Given the description of an element on the screen output the (x, y) to click on. 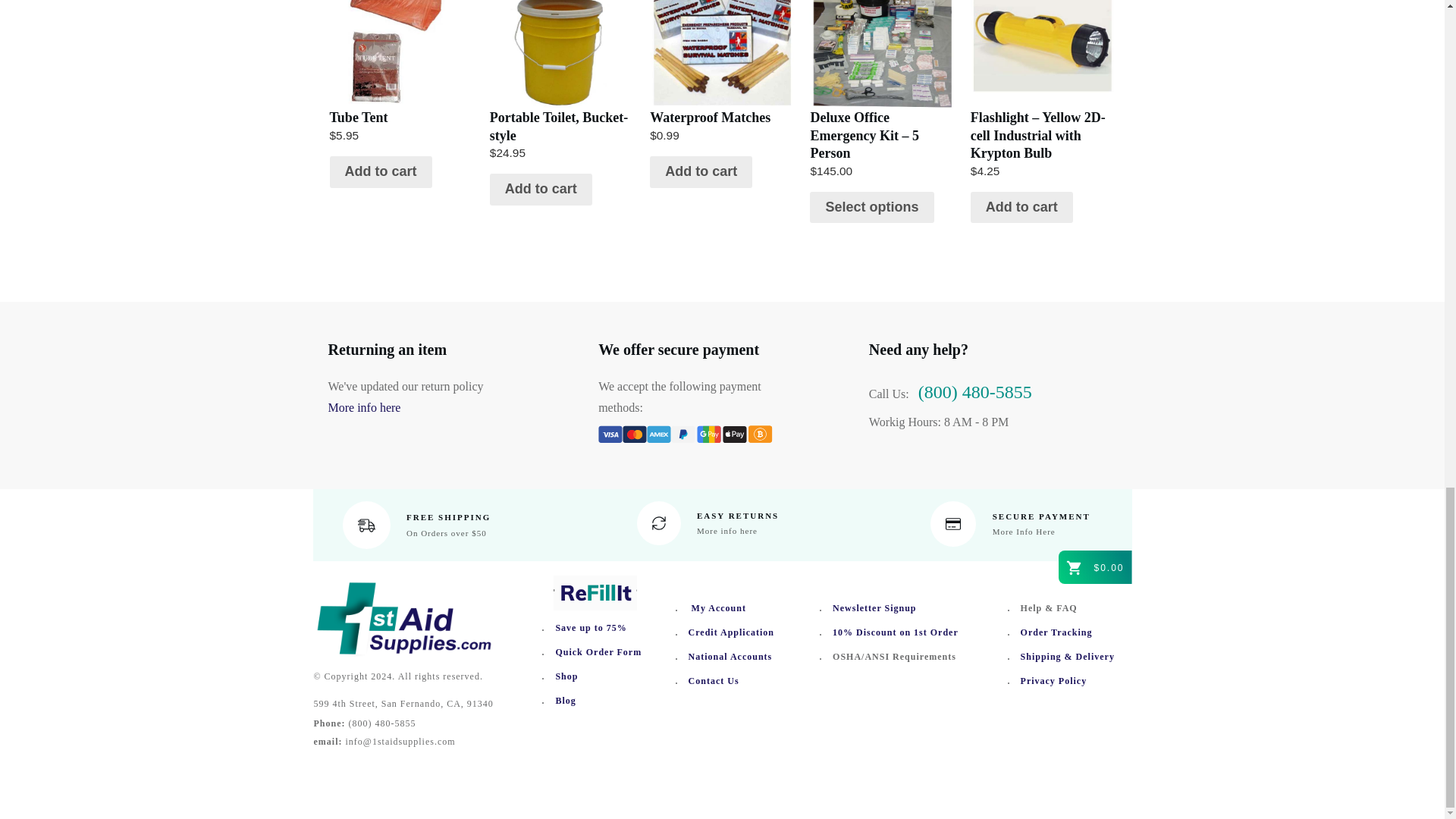
Refillit Small (595, 592)
